Given the description of an element on the screen output the (x, y) to click on. 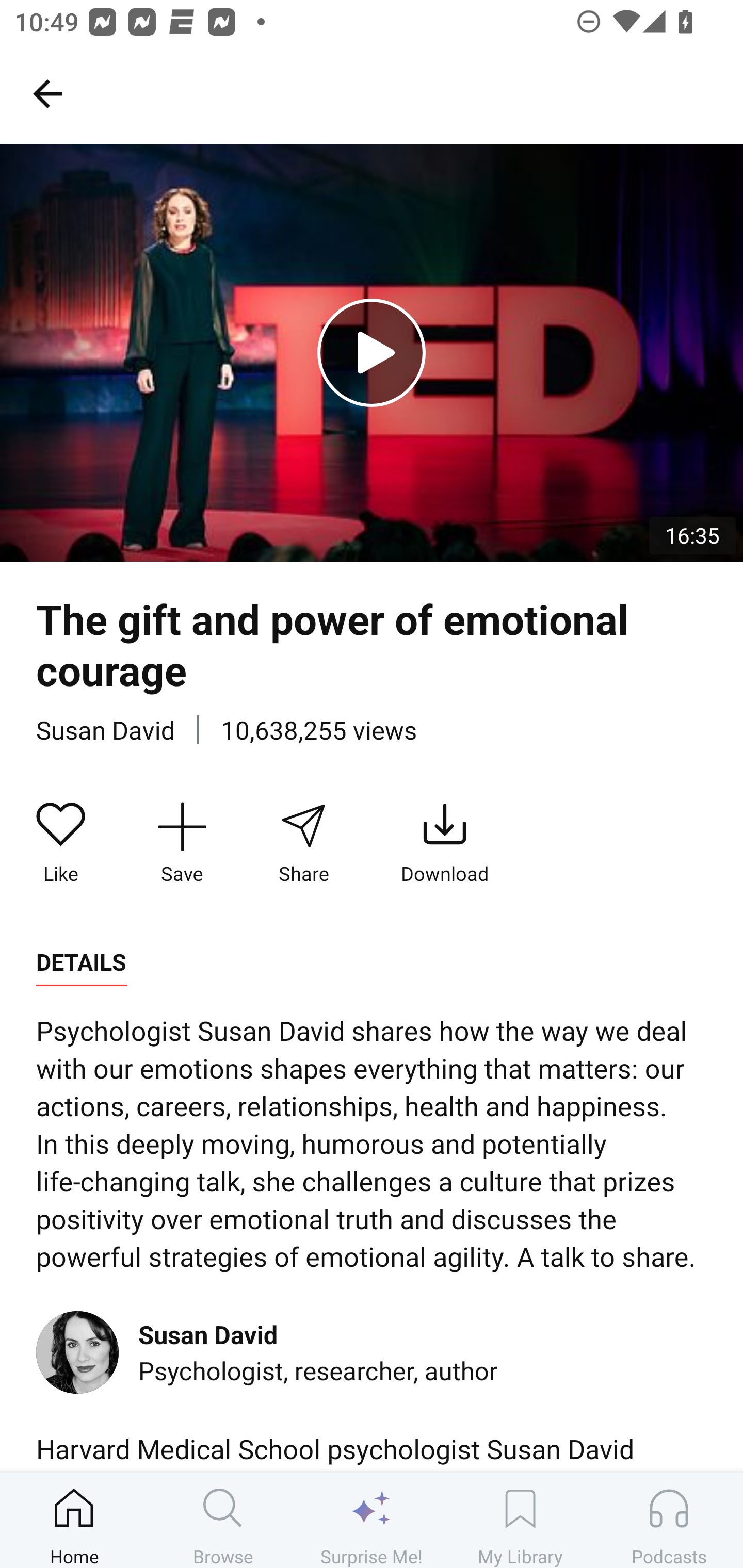
Home, back (47, 92)
Like (60, 843)
Save (181, 843)
Share (302, 843)
Download (444, 843)
DETAILS (80, 962)
Home (74, 1520)
Browse (222, 1520)
Surprise Me! (371, 1520)
My Library (519, 1520)
Podcasts (668, 1520)
